Given the description of an element on the screen output the (x, y) to click on. 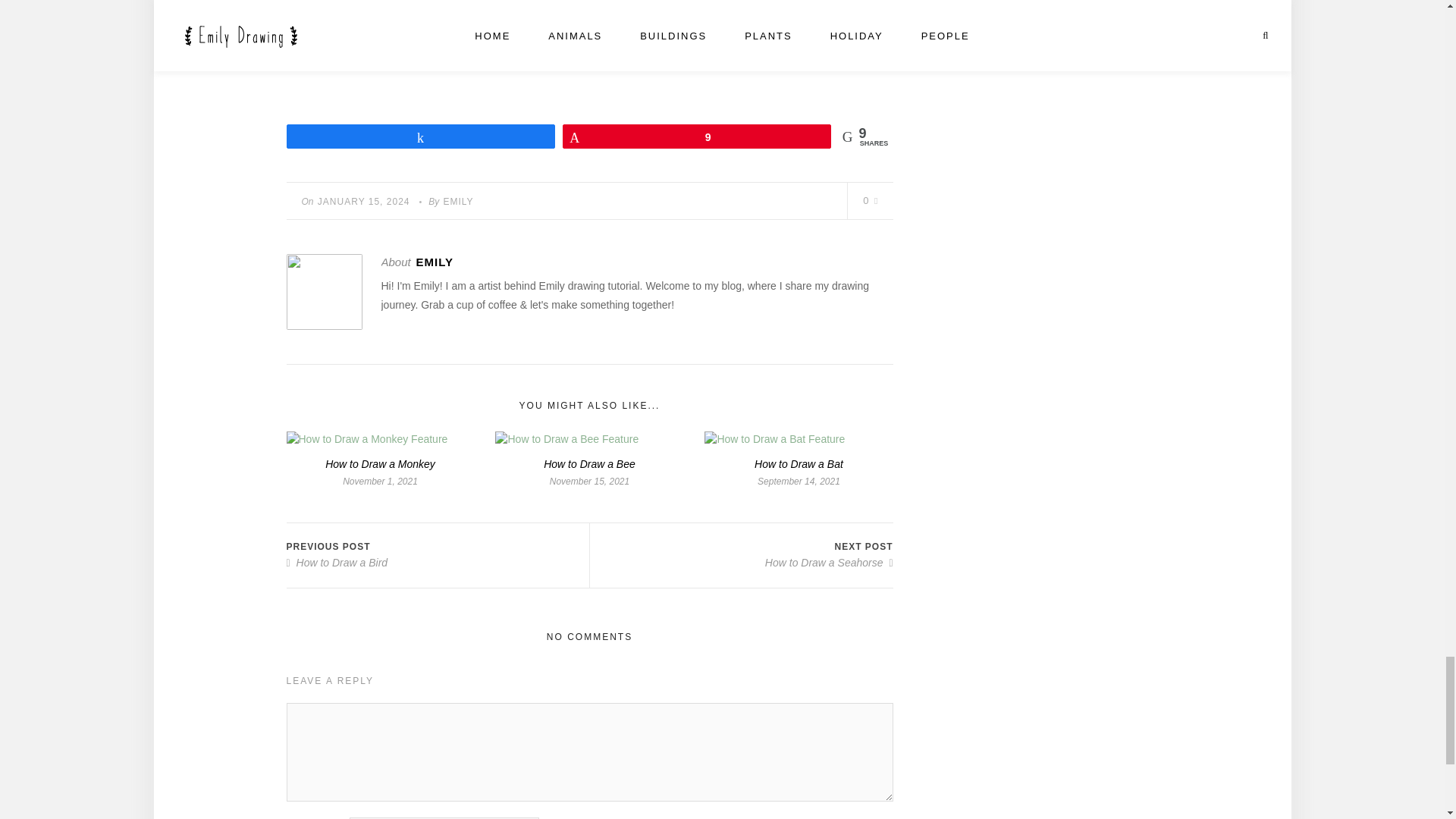
How to Draw a Seahorse (829, 562)
How to Draw a Bat (798, 463)
JANUARY 15, 2024 (363, 201)
Posts by Emily (434, 262)
Posts by Emily (457, 201)
How to Draw a Bird (337, 562)
EMILY (434, 262)
How to Draw a Monkey (379, 463)
EMILY (457, 201)
0 (870, 200)
